Given the description of an element on the screen output the (x, y) to click on. 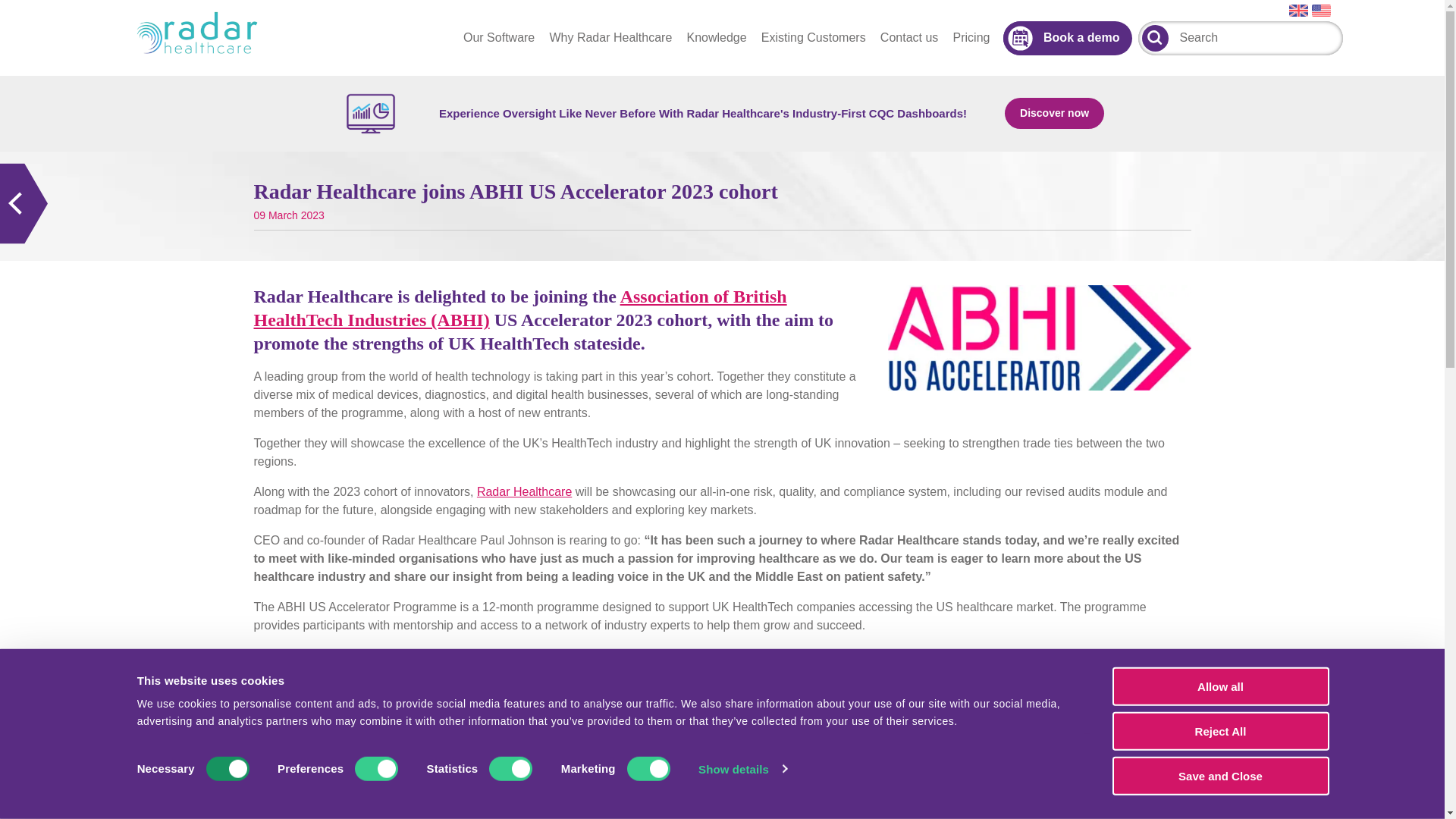
Show details (742, 768)
